Given the description of an element on the screen output the (x, y) to click on. 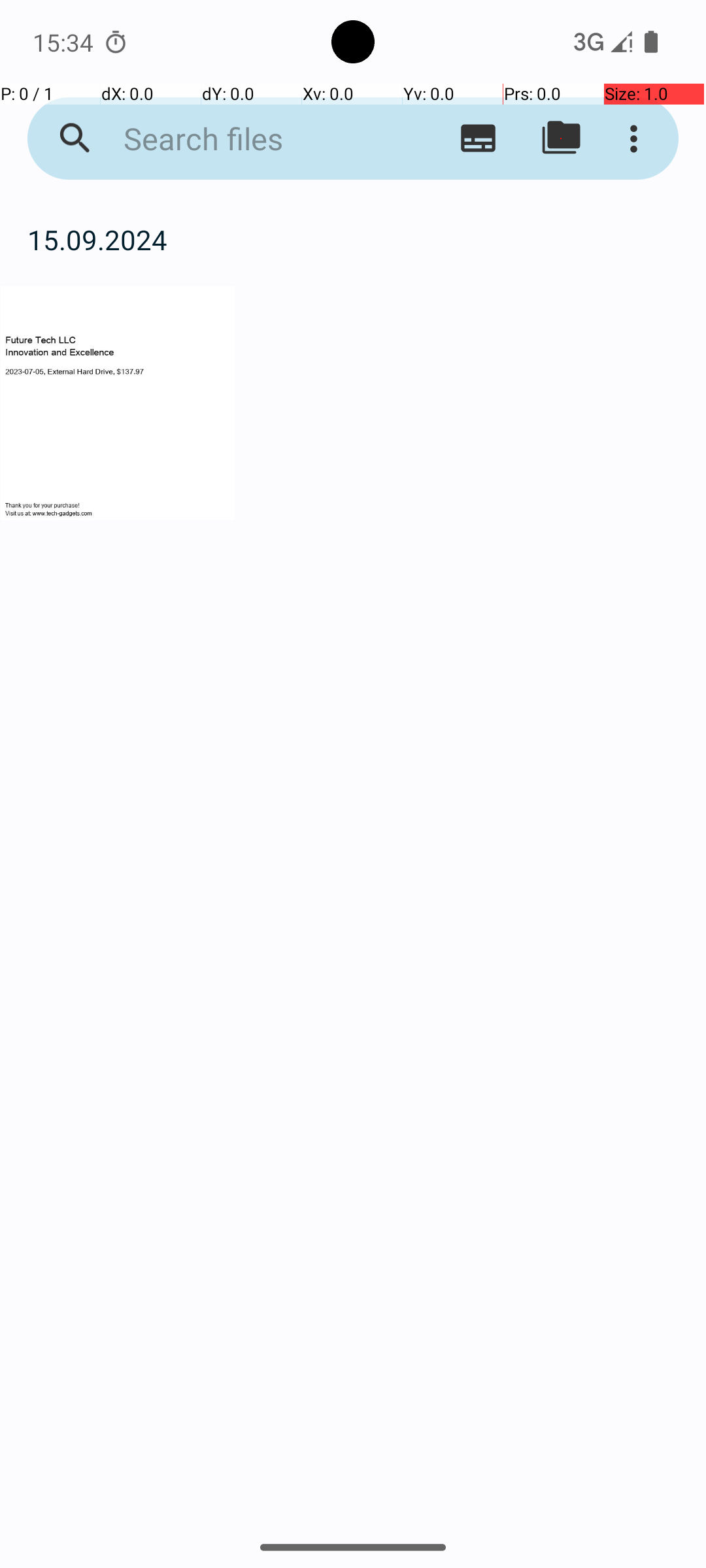
Search files Element type: android.widget.EditText (252, 138)
Switch to folder view Element type: android.widget.Button (560, 138)
15.09.2024 Element type: android.widget.TextView (353, 239)
